Given the description of an element on the screen output the (x, y) to click on. 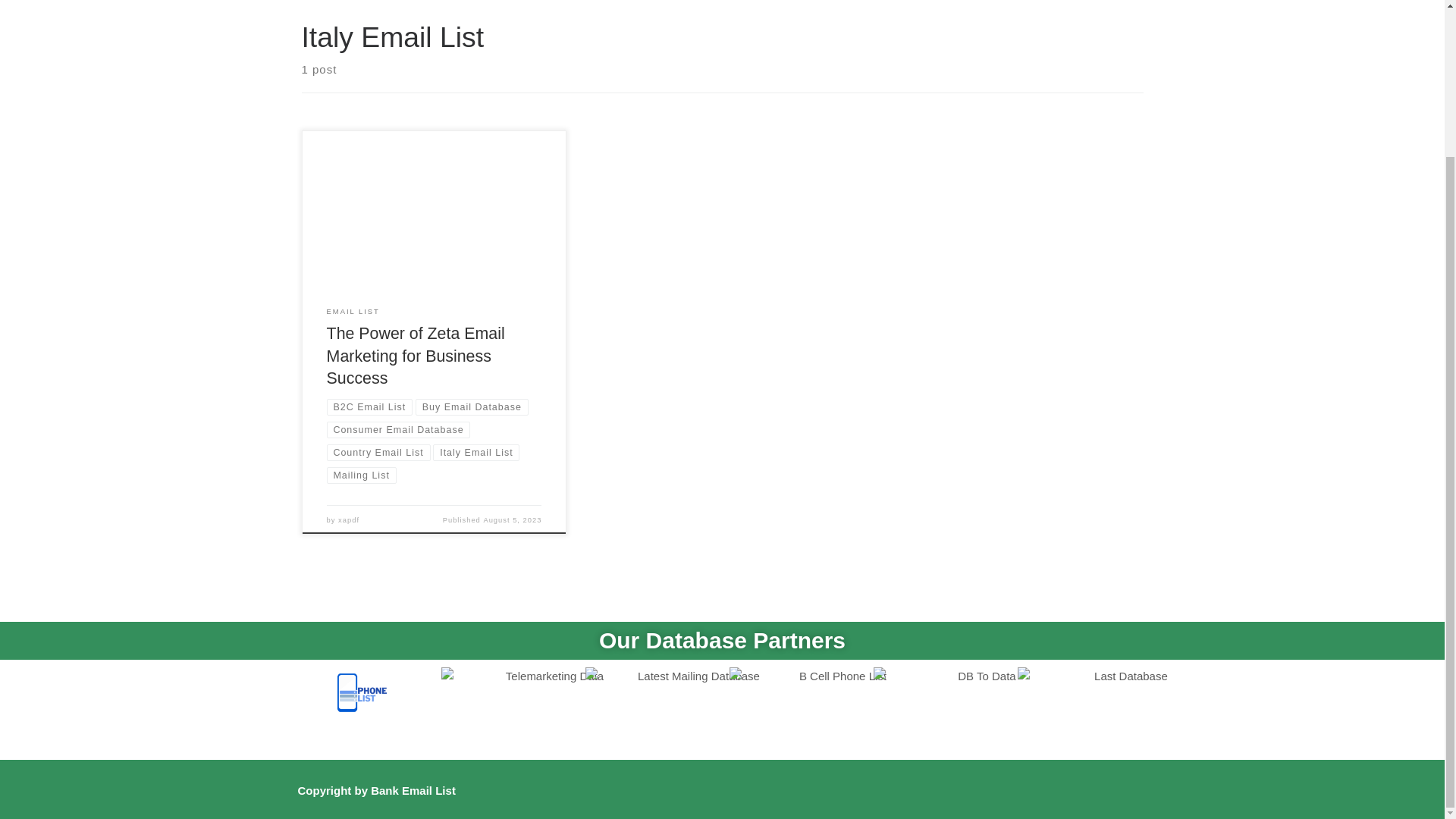
EMAIL LIST (353, 311)
Buy Email Database (471, 406)
Mailing List (361, 475)
View all posts by xapdf (348, 520)
The Power of Zeta Email Marketing for Business Success (415, 356)
Country Email List (378, 452)
Bank Email List (413, 789)
View all posts in Country Email List (378, 452)
View all posts in Buy Email Database (471, 406)
